Given the description of an element on the screen output the (x, y) to click on. 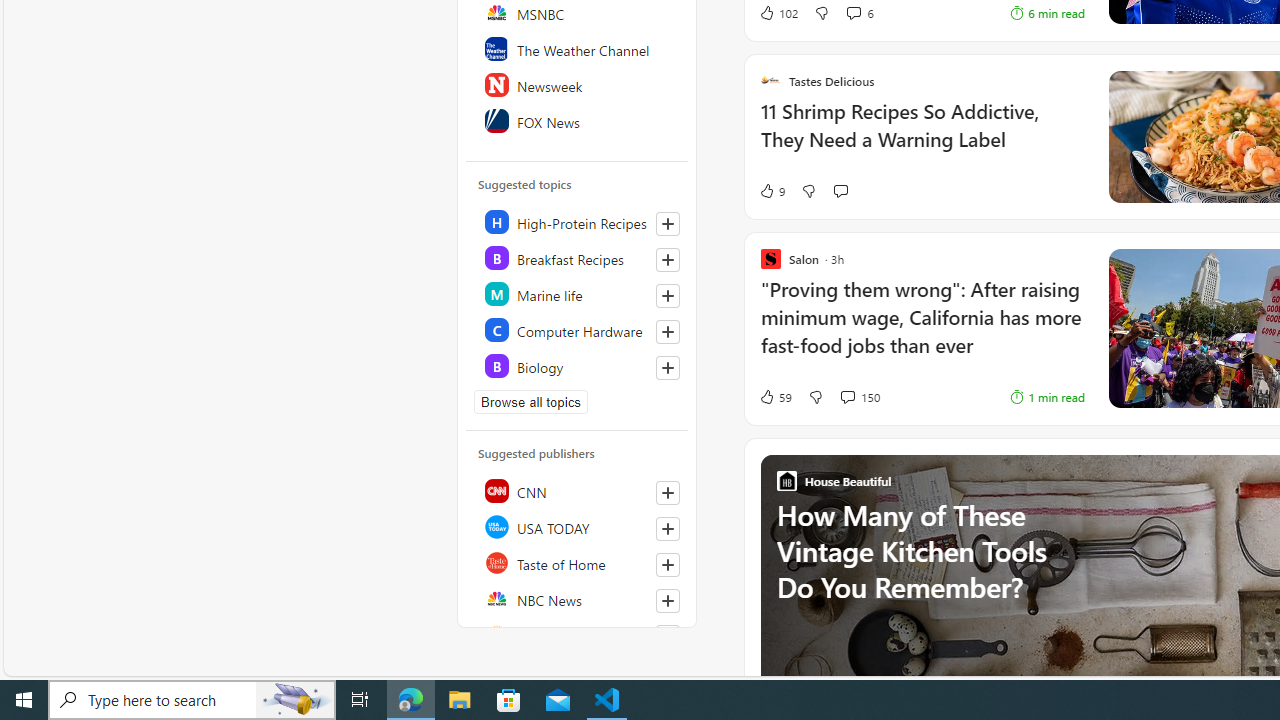
102 Like (778, 12)
Taste of Home (578, 562)
View comments 6 Comment (852, 12)
FOX News (578, 120)
View comments 150 Comment (847, 396)
Class: highlight (578, 365)
View comments 6 Comment (859, 12)
